Given the description of an element on the screen output the (x, y) to click on. 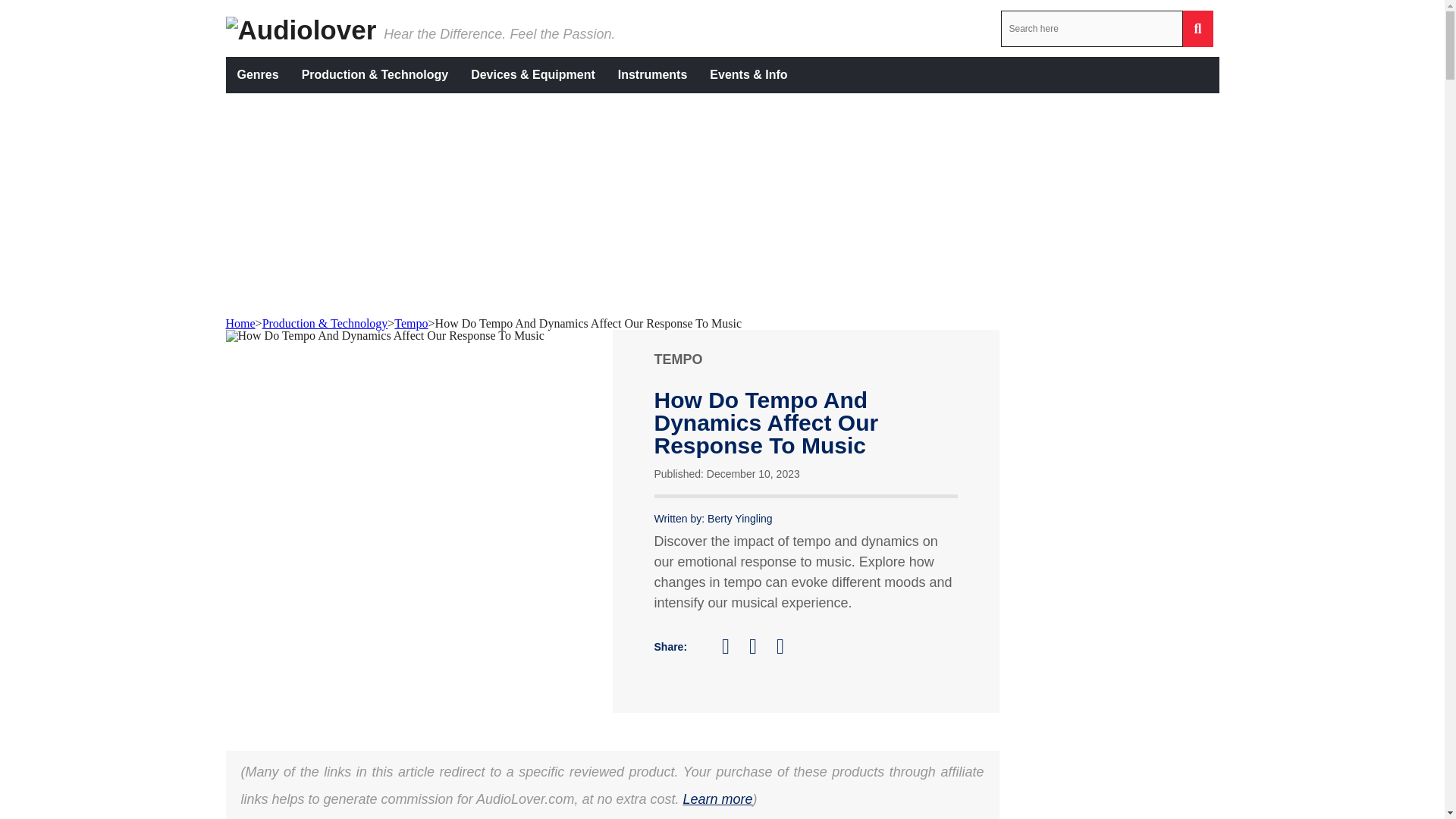
Share on WhatsApp (786, 646)
Share on Facebook (705, 649)
Share on Pinterest (759, 646)
Genres (257, 74)
Share on Twitter (732, 646)
